Given the description of an element on the screen output the (x, y) to click on. 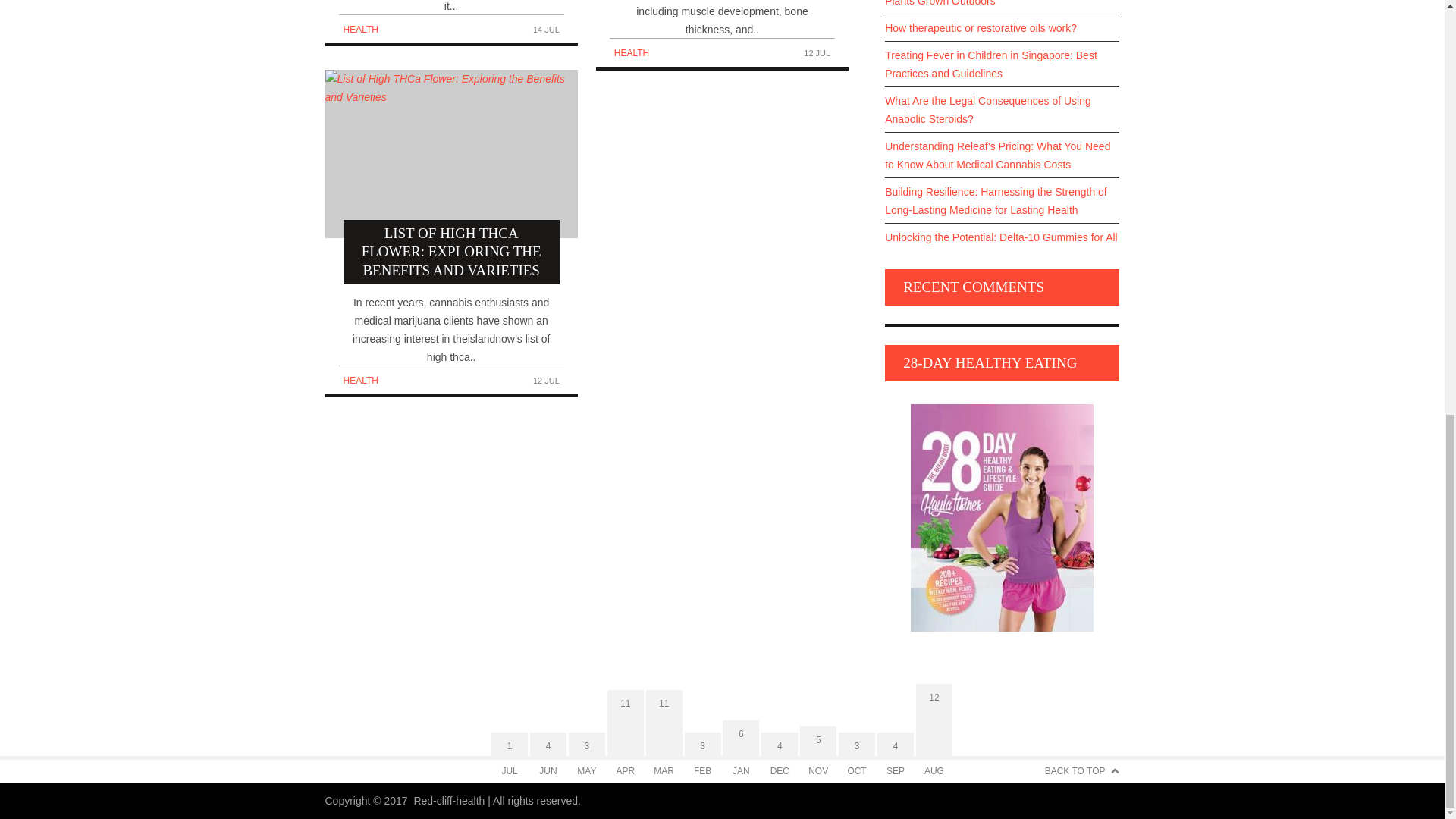
HEALTH (631, 52)
HEALTH (359, 380)
View all posts in Health (359, 380)
View all posts in Health (631, 52)
View all posts in Health (359, 29)
HEALTH (359, 29)
